Given the description of an element on the screen output the (x, y) to click on. 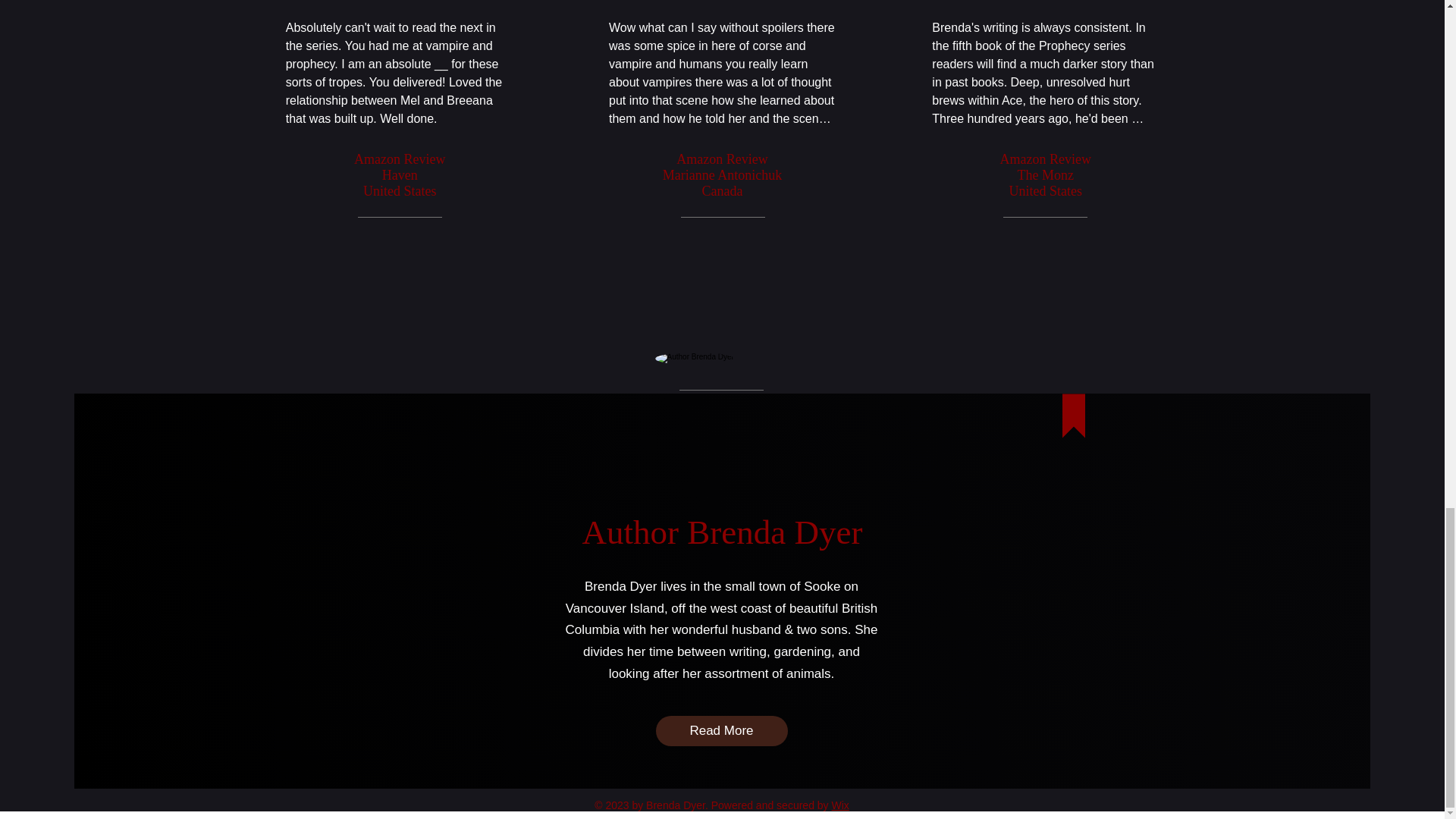
Wix (839, 805)
Read More (721, 730)
Marianne Antonichuk (721, 174)
